Given the description of an element on the screen output the (x, y) to click on. 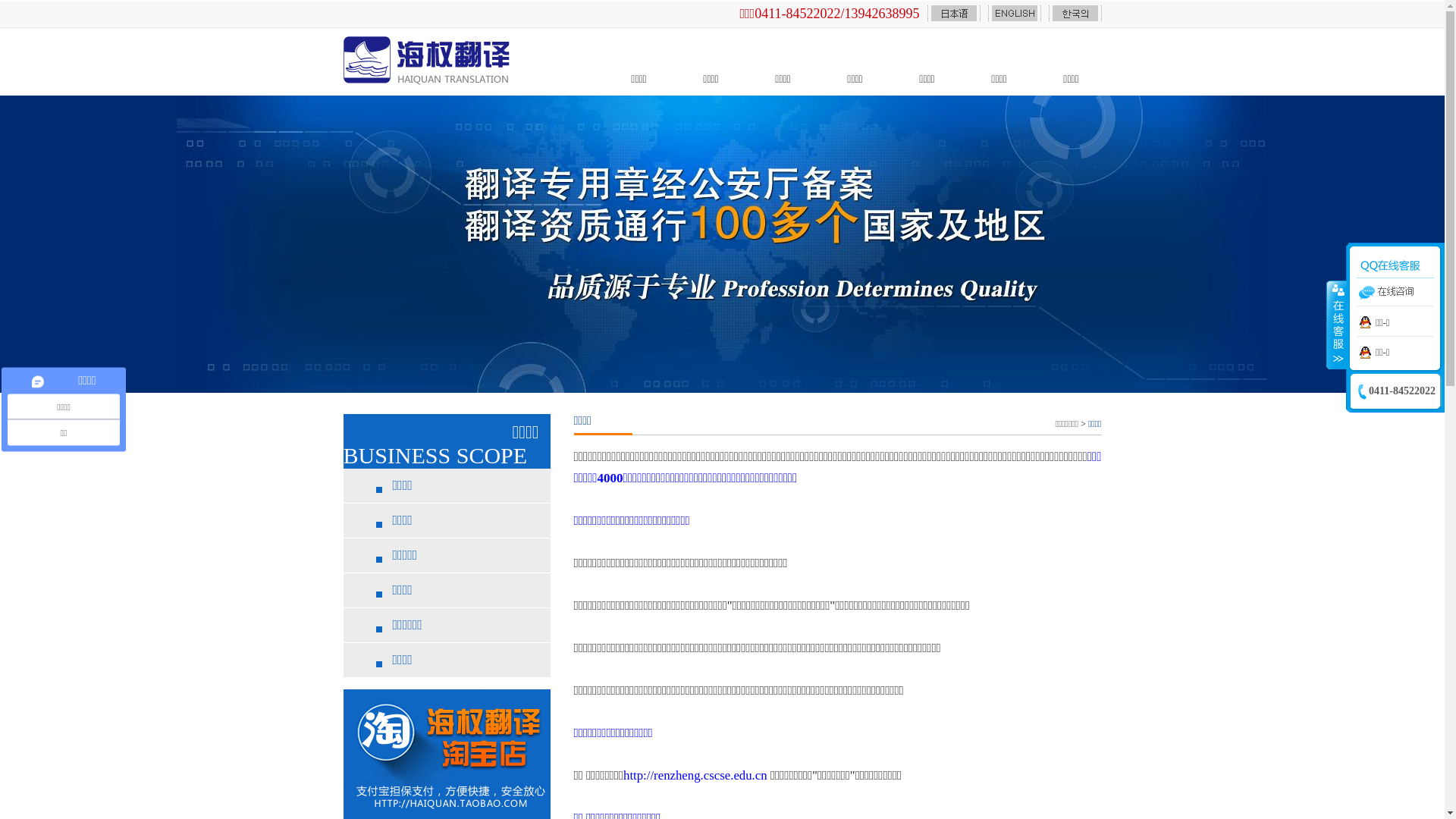
http://renzheng.cscse.edu.cn Element type: text (695, 775)
